Given the description of an element on the screen output the (x, y) to click on. 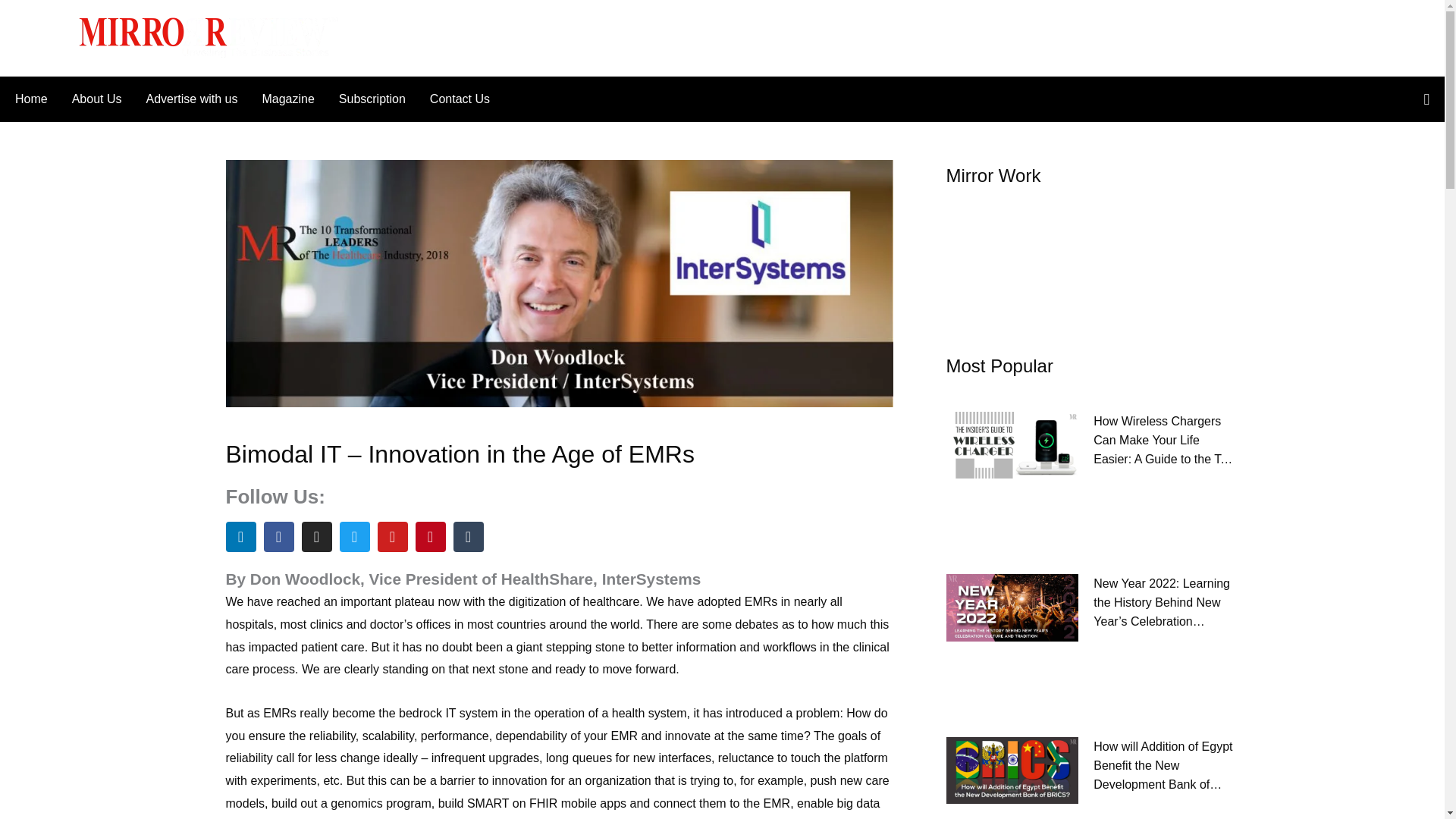
Most Popular (999, 365)
Home (36, 99)
Contact Us (453, 99)
Main Menu (43, 37)
Subscription (371, 99)
Magazine (287, 99)
Facebook (278, 536)
Youtube (392, 536)
